Given the description of an element on the screen output the (x, y) to click on. 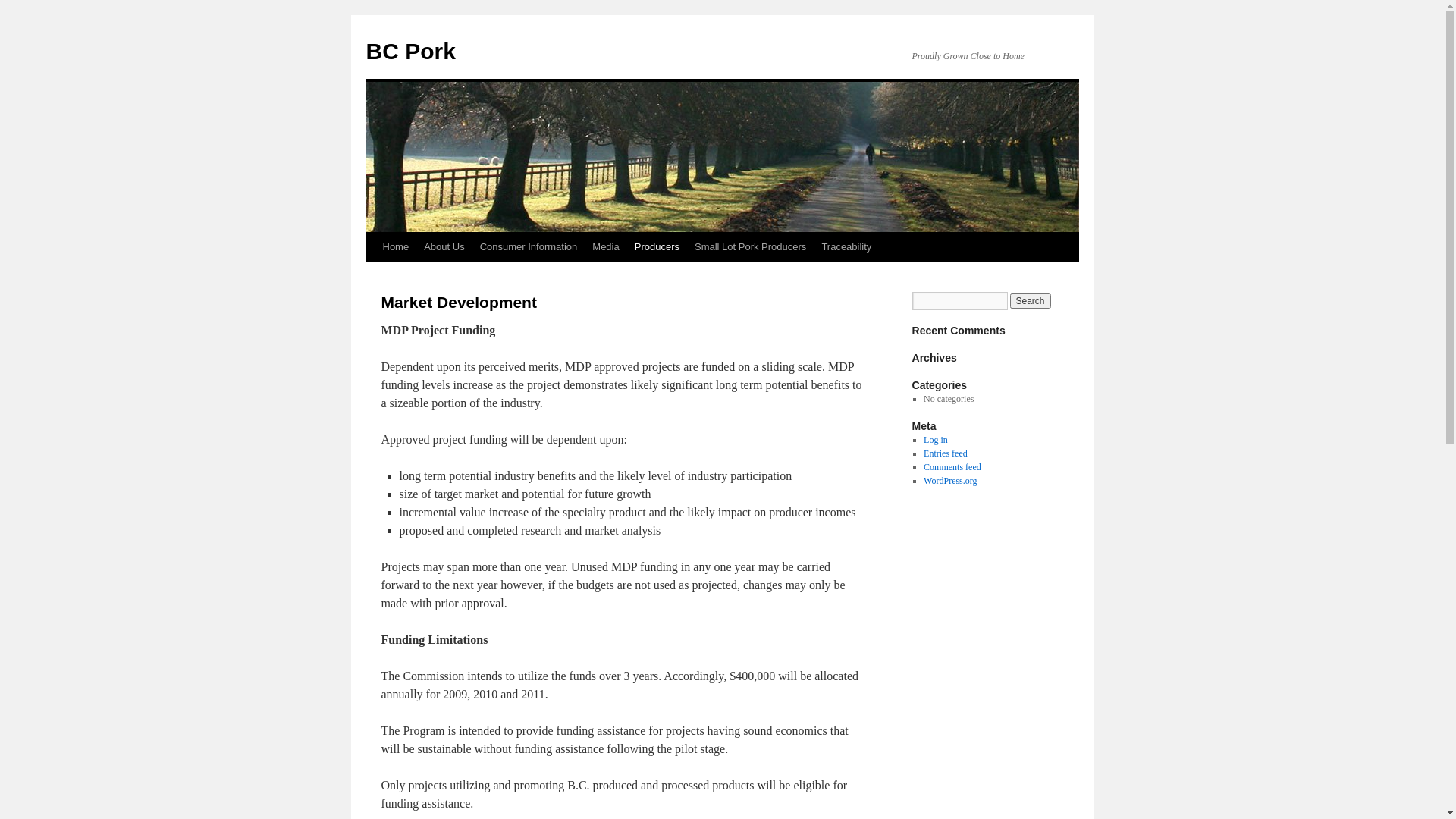
Log in Element type: text (935, 439)
Media Element type: text (605, 246)
Comments feed Element type: text (952, 466)
Consumer Information Element type: text (528, 246)
Home Element type: text (395, 246)
BC Pork Element type: text (410, 50)
Skip to content Element type: text (372, 275)
About Us Element type: text (443, 246)
Producers Element type: text (657, 246)
Traceability Element type: text (845, 246)
Search Element type: text (1030, 300)
Small Lot Pork Producers Element type: text (750, 246)
WordPress.org Element type: text (949, 480)
Entries feed Element type: text (945, 453)
